Given the description of an element on the screen output the (x, y) to click on. 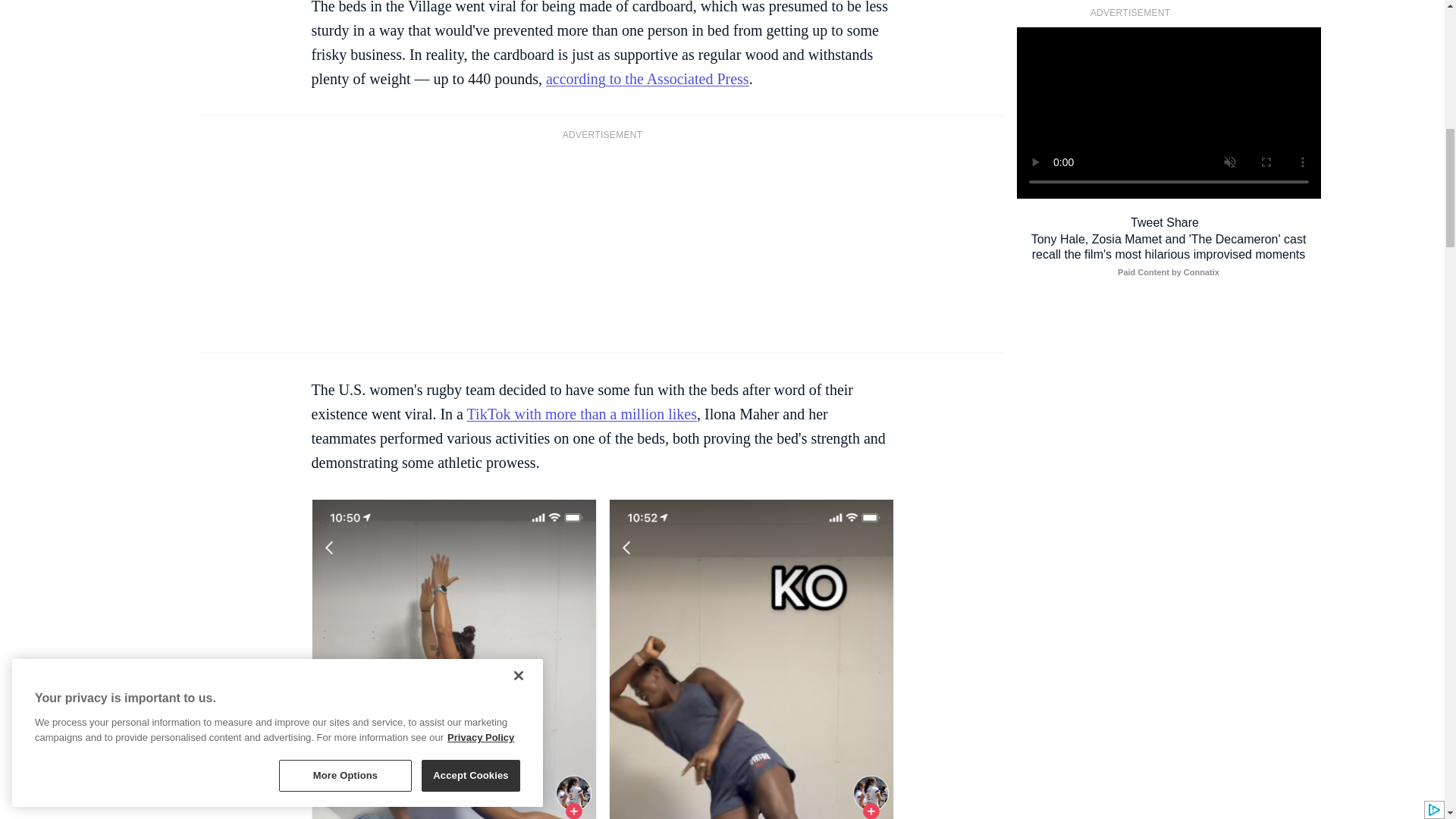
3rd party ad content (601, 244)
